Given the description of an element on the screen output the (x, y) to click on. 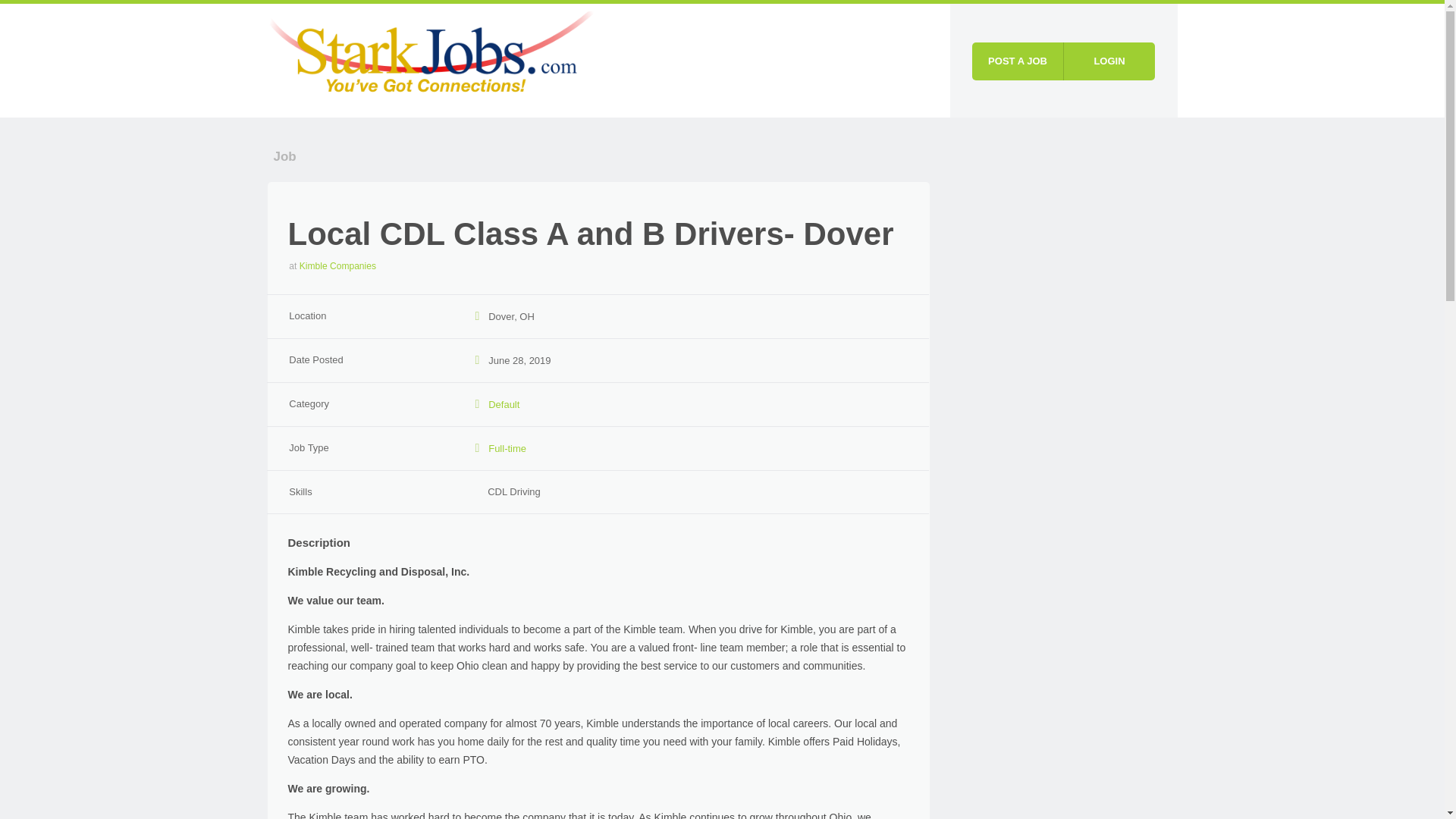
Kimble Companies (337, 266)
Default (503, 404)
Full-time (506, 448)
POST A JOB (1017, 61)
LOGIN (1108, 61)
StarkJobs.com (430, 58)
